Given the description of an element on the screen output the (x, y) to click on. 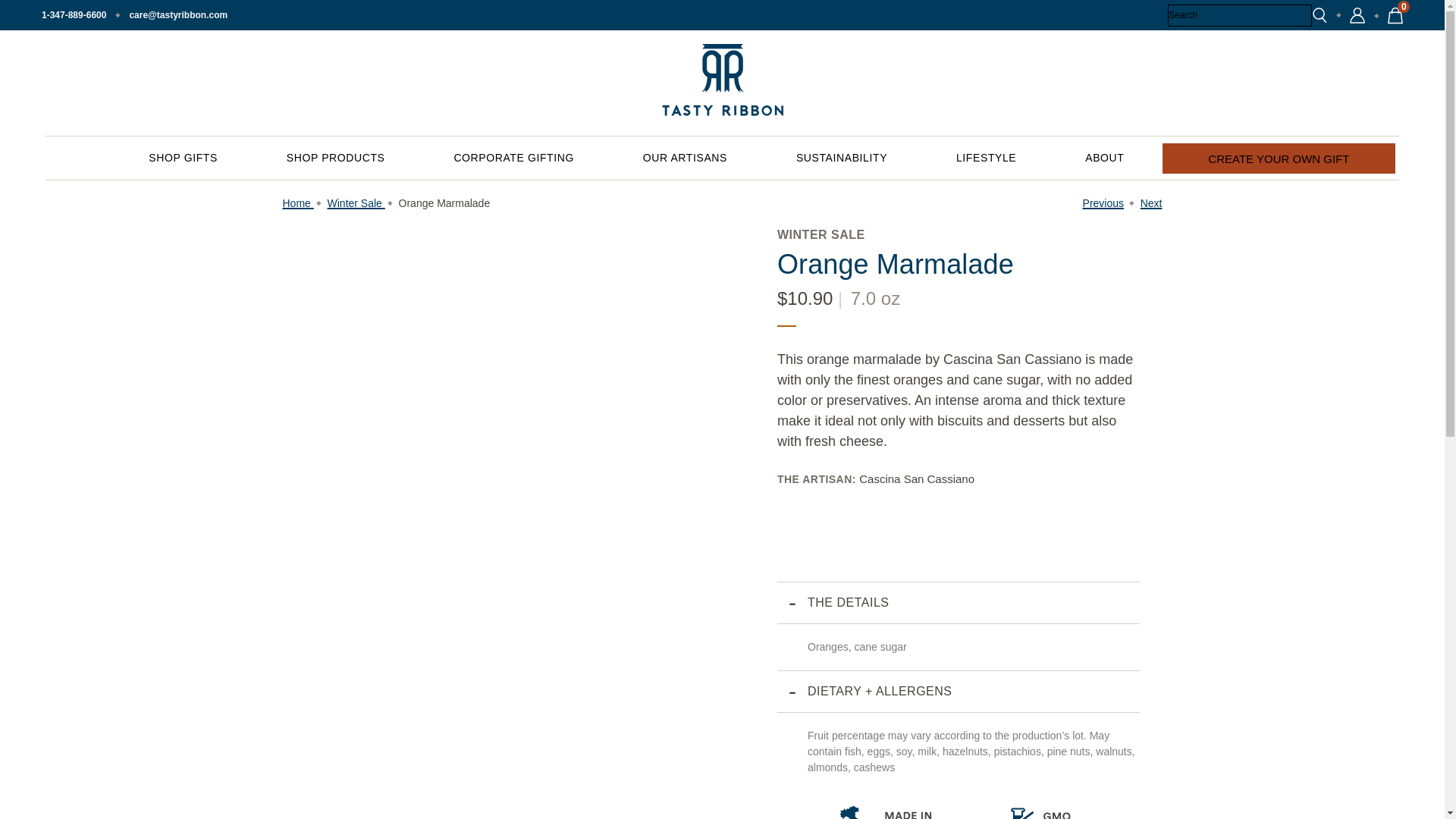
Next (1150, 203)
SHOP GIFTS (182, 157)
OUR ARTISANS (684, 157)
Winter Sale (356, 203)
LIFESTYLE (986, 157)
My Account  (1357, 14)
ABOUT (1104, 157)
SHOP PRODUCTS (335, 157)
0 (1394, 15)
